Given the description of an element on the screen output the (x, y) to click on. 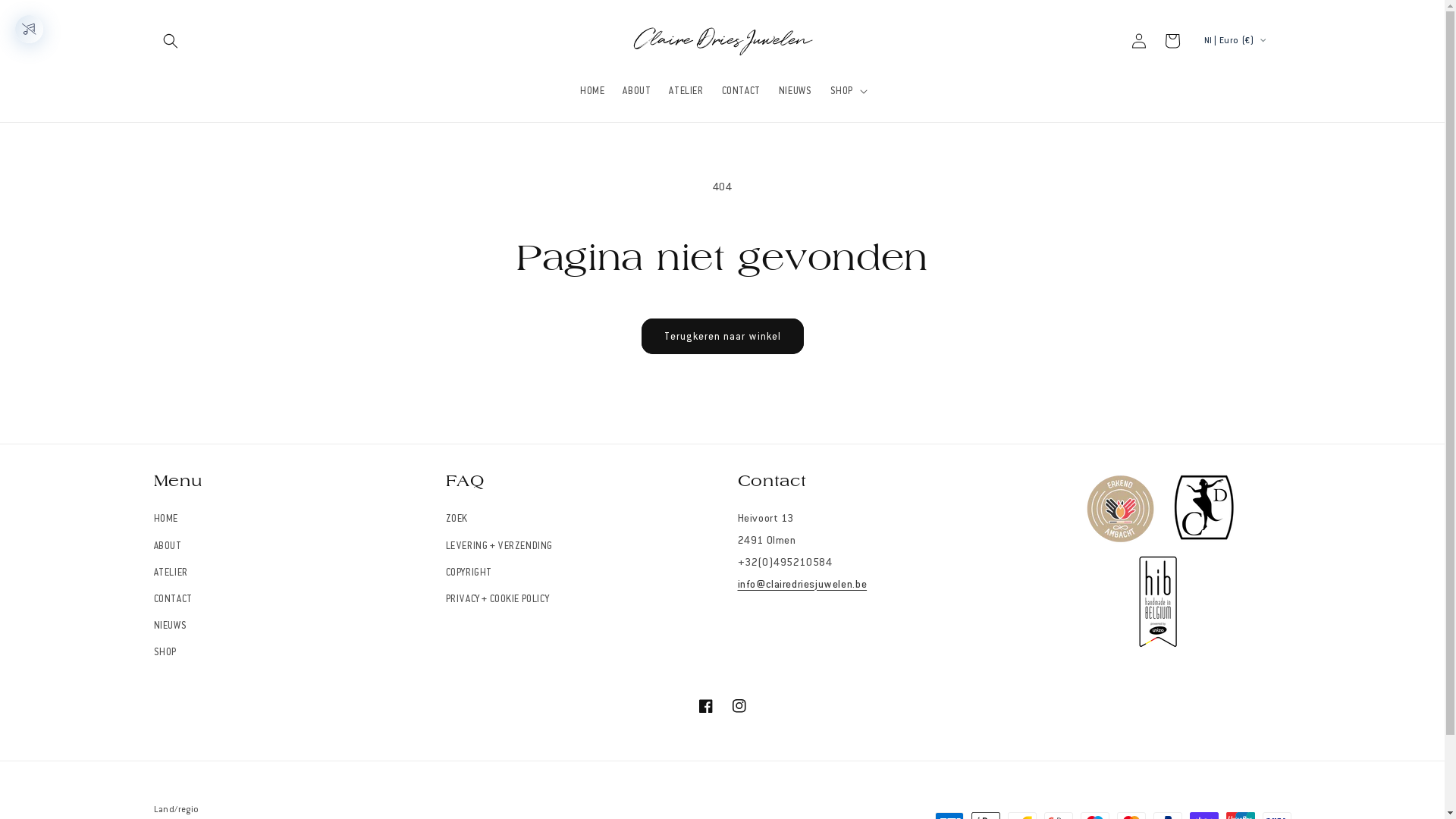
CONTACT Element type: text (740, 90)
HOME Element type: text (592, 90)
info@clairedriesjuwelen.be Element type: text (801, 583)
SHOP Element type: text (164, 652)
NIEUWS Element type: text (795, 90)
CONTACT Element type: text (172, 599)
Facebook Element type: text (704, 705)
NIEUWS Element type: text (169, 625)
ABOUT Element type: text (167, 546)
Winkelwagen Element type: text (1172, 40)
ABOUT Element type: text (636, 90)
LEVERING + VERZENDING Element type: text (499, 546)
Inloggen Element type: text (1138, 40)
ATELIER Element type: text (685, 90)
Terugkeren naar winkel Element type: text (722, 336)
ATELIER Element type: text (170, 572)
ZOEK Element type: text (456, 520)
COPYRIGHT Element type: text (468, 572)
PRIVACY + COOKIE POLICY Element type: text (497, 599)
Instagram Element type: text (738, 705)
HOME Element type: text (165, 520)
